Given the description of an element on the screen output the (x, y) to click on. 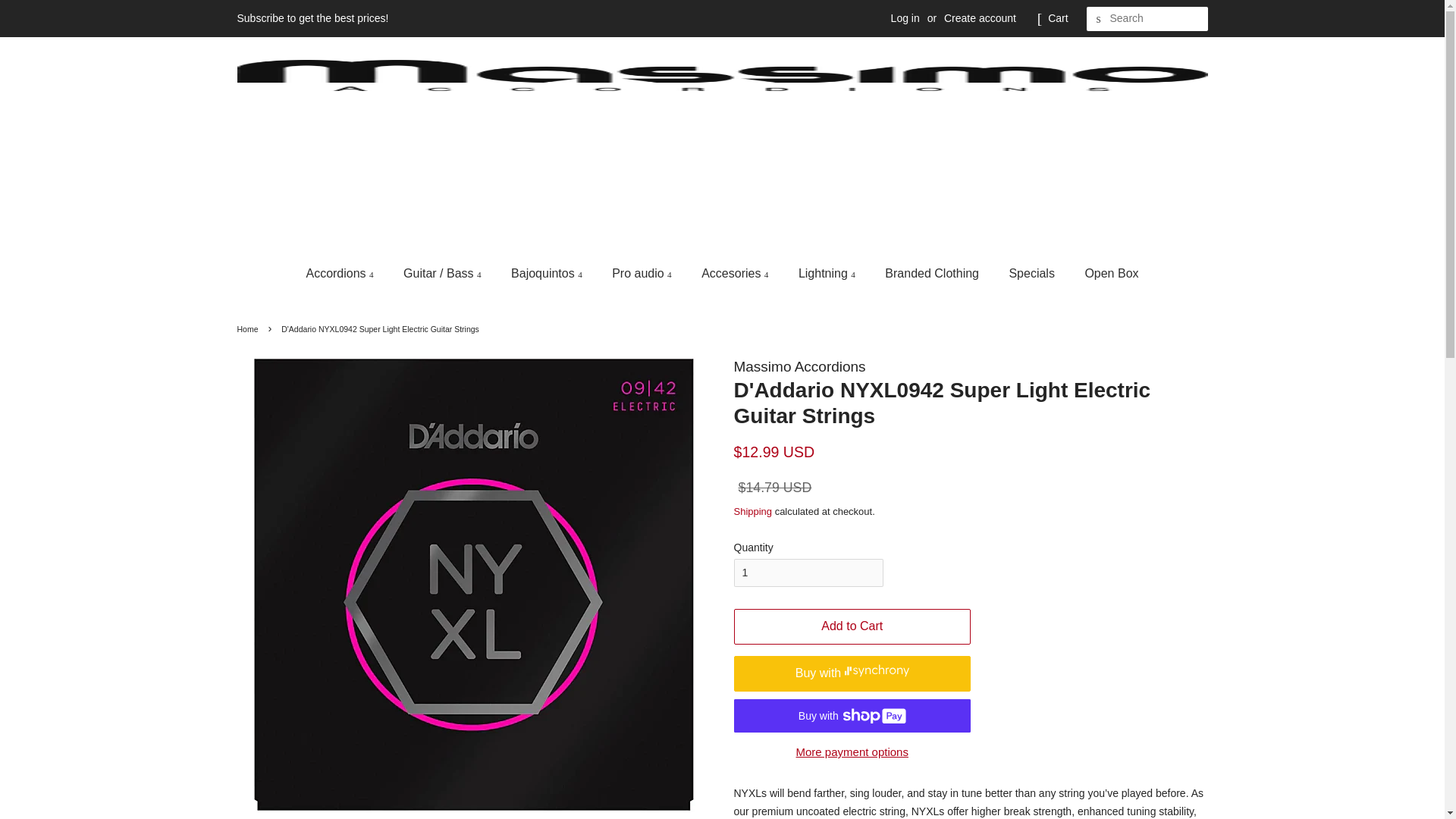
Subscribe to get the best prices! (311, 18)
Back to the frontpage (248, 328)
Cart (1057, 18)
Search (1097, 18)
1 (808, 573)
Log in (905, 18)
Create account (979, 18)
